Given the description of an element on the screen output the (x, y) to click on. 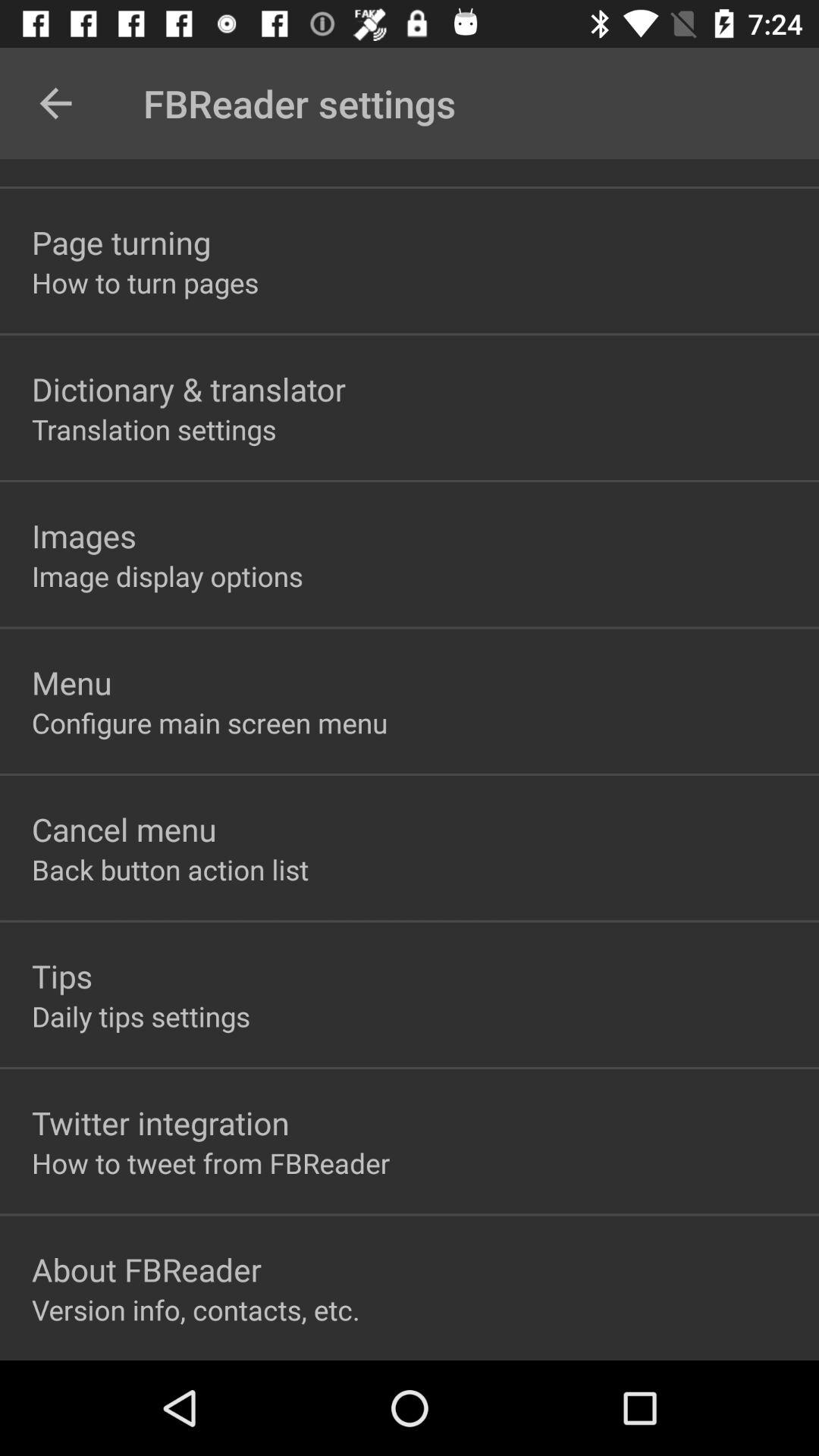
turn on icon above the twitter integration item (140, 1016)
